Given the description of an element on the screen output the (x, y) to click on. 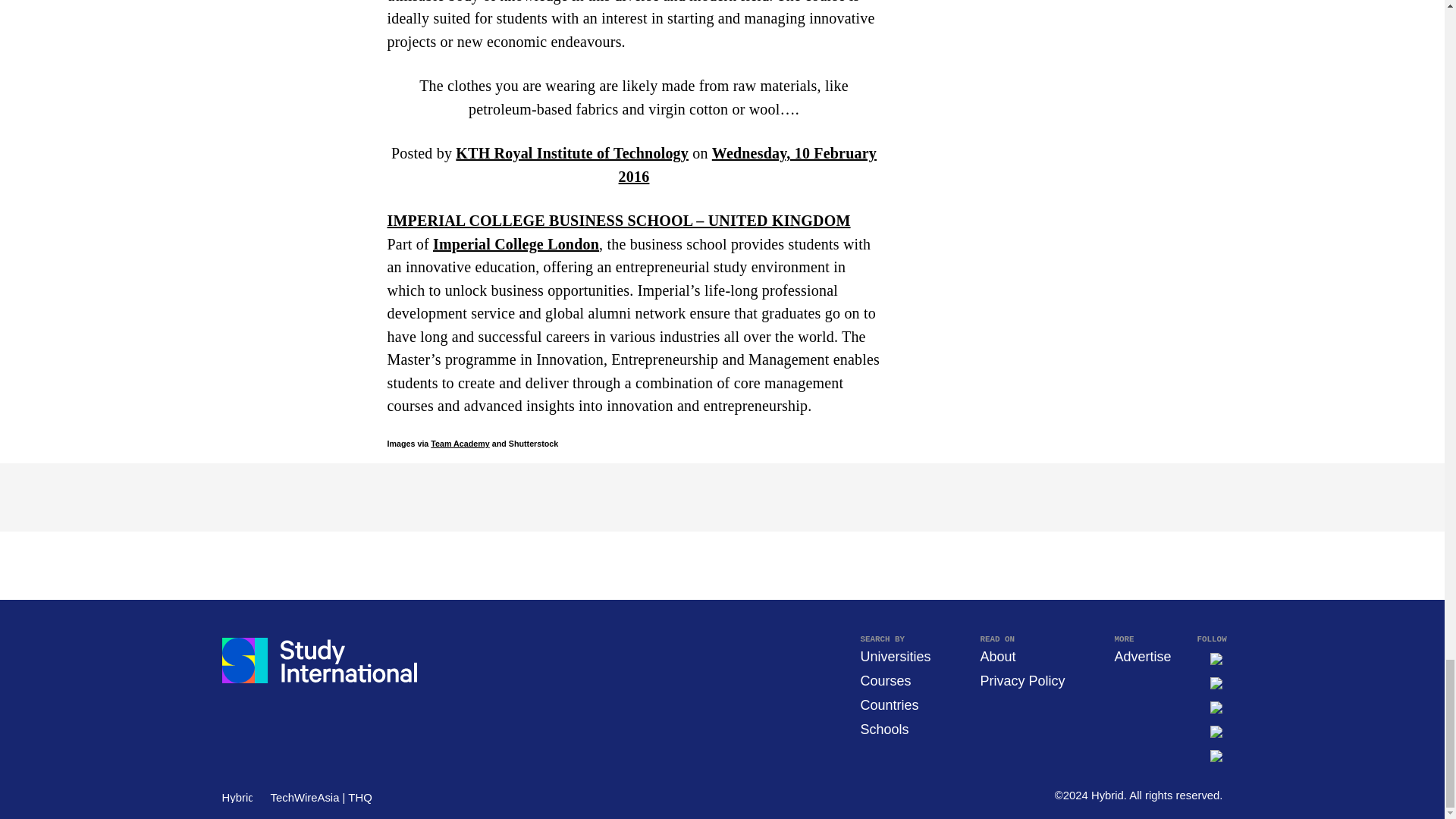
KTH Royal Institute of Technology (571, 152)
